Given the description of an element on the screen output the (x, y) to click on. 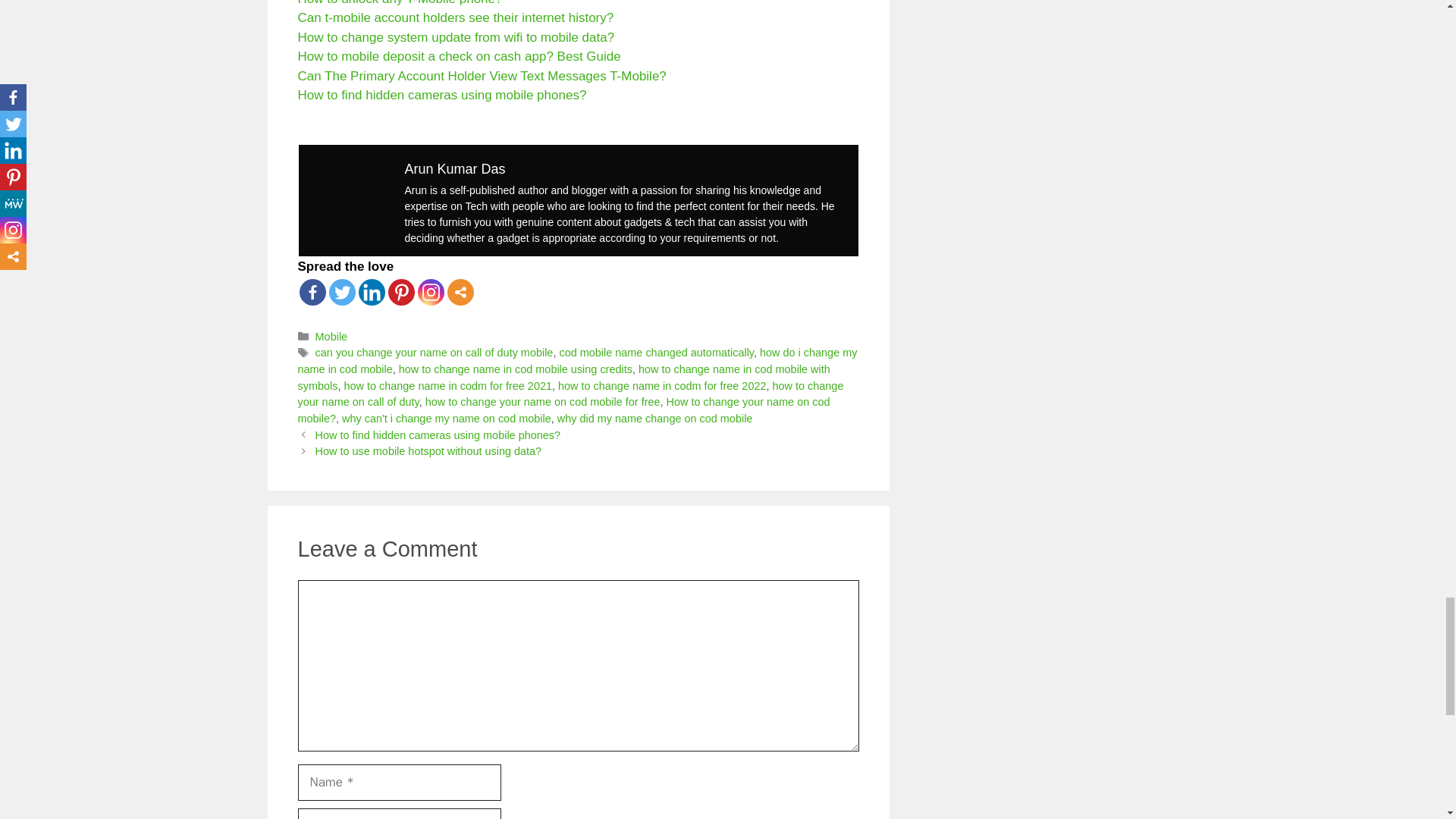
How to change system update from wifi to mobile data? (455, 37)
How to find hidden cameras using mobile phones? (441, 94)
Arun Kumar Das (454, 168)
How to mobile deposit a check on cash app? Best Guide (458, 56)
How to unlock any T-Mobile phone? (399, 2)
Can t-mobile account holders see their internet history? (454, 17)
Can The Primary Account Holder View Text Messages T-Mobile? (481, 75)
Facebook (311, 292)
